Given the description of an element on the screen output the (x, y) to click on. 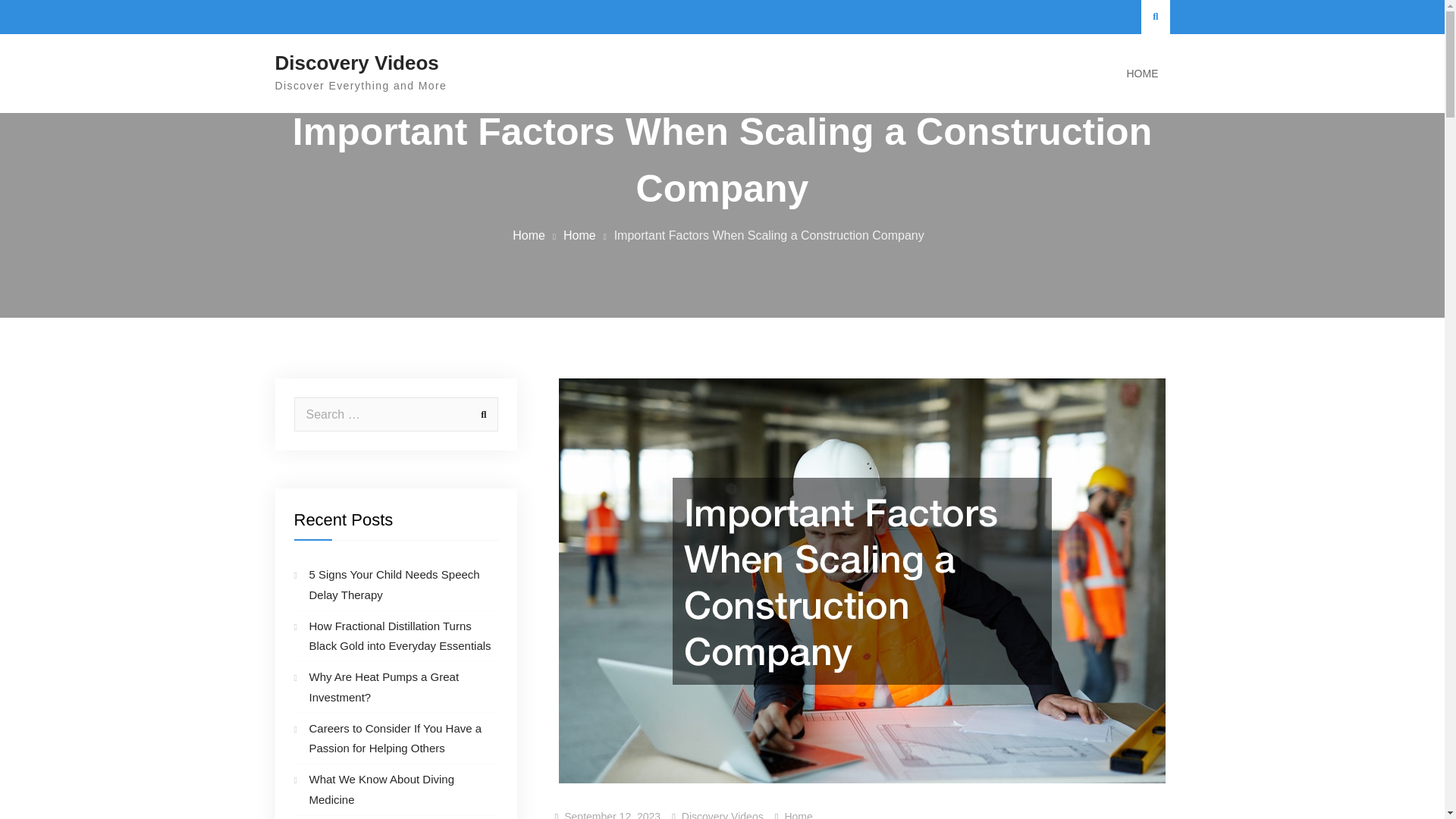
Careers to Consider If You Have a Passion for Helping Others (394, 737)
5 Signs Your Child Needs Speech Delay Therapy (394, 584)
September 12, 2023 (612, 814)
Home (798, 814)
HOME (1142, 74)
Discovery Videos (721, 814)
Home (579, 235)
Why Are Heat Pumps a Great Investment? (384, 686)
Home (528, 235)
What We Know About Diving Medicine (381, 789)
Discovery Videos (356, 62)
